Given the description of an element on the screen output the (x, y) to click on. 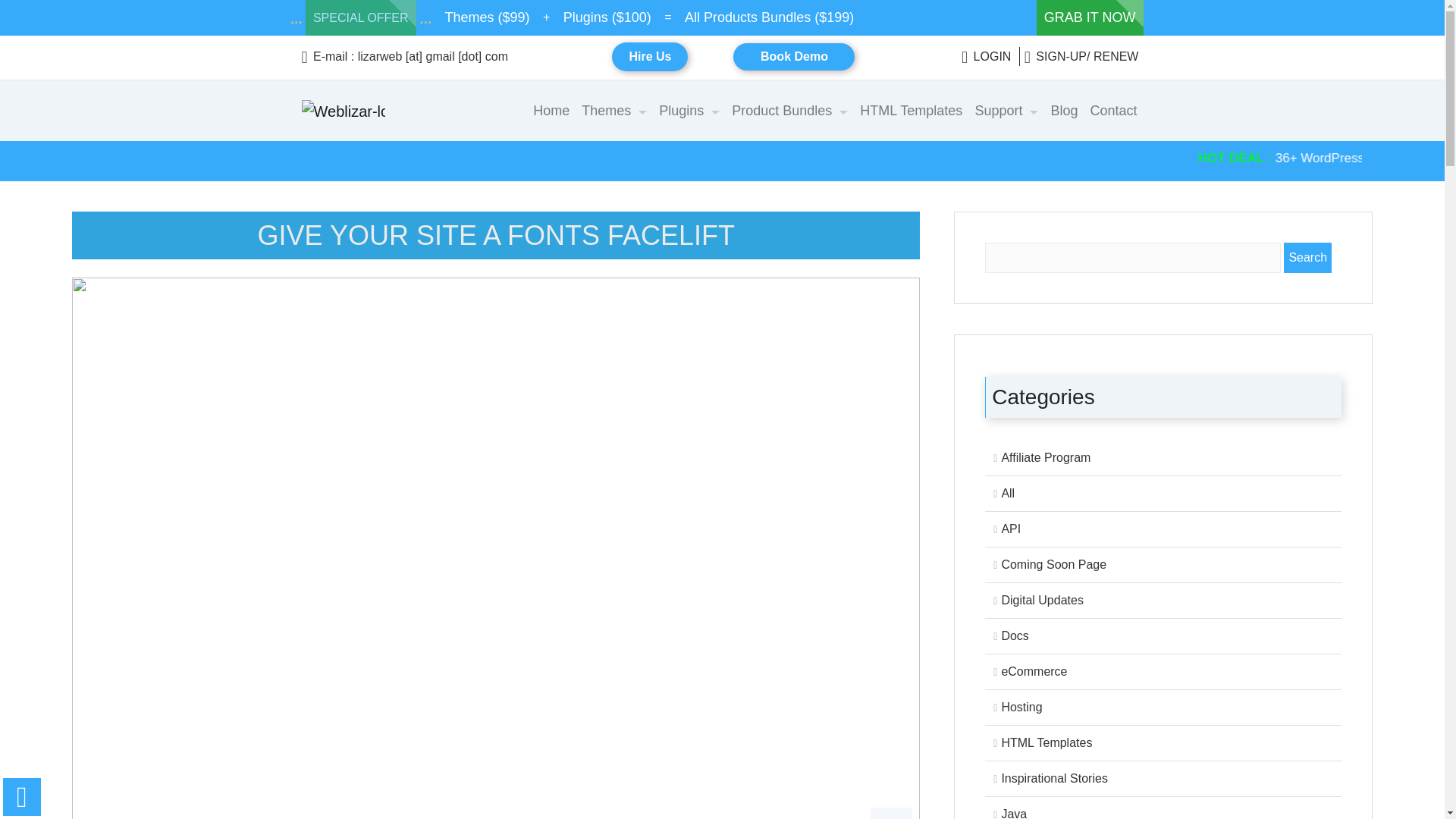
WordPress Premium Themes (670, 157)
HTML Templates (910, 110)
Search (1308, 257)
Blog (1063, 110)
Home (551, 110)
Themes (613, 110)
LOGIN (988, 56)
Book Demo (793, 56)
Translate Weblizar WordPress plugins (1061, 167)
Plugins (688, 110)
Weblizar (343, 110)
Product Bundles (789, 110)
Contact (1112, 110)
Support (1005, 110)
Help Desk (1061, 157)
